Given the description of an element on the screen output the (x, y) to click on. 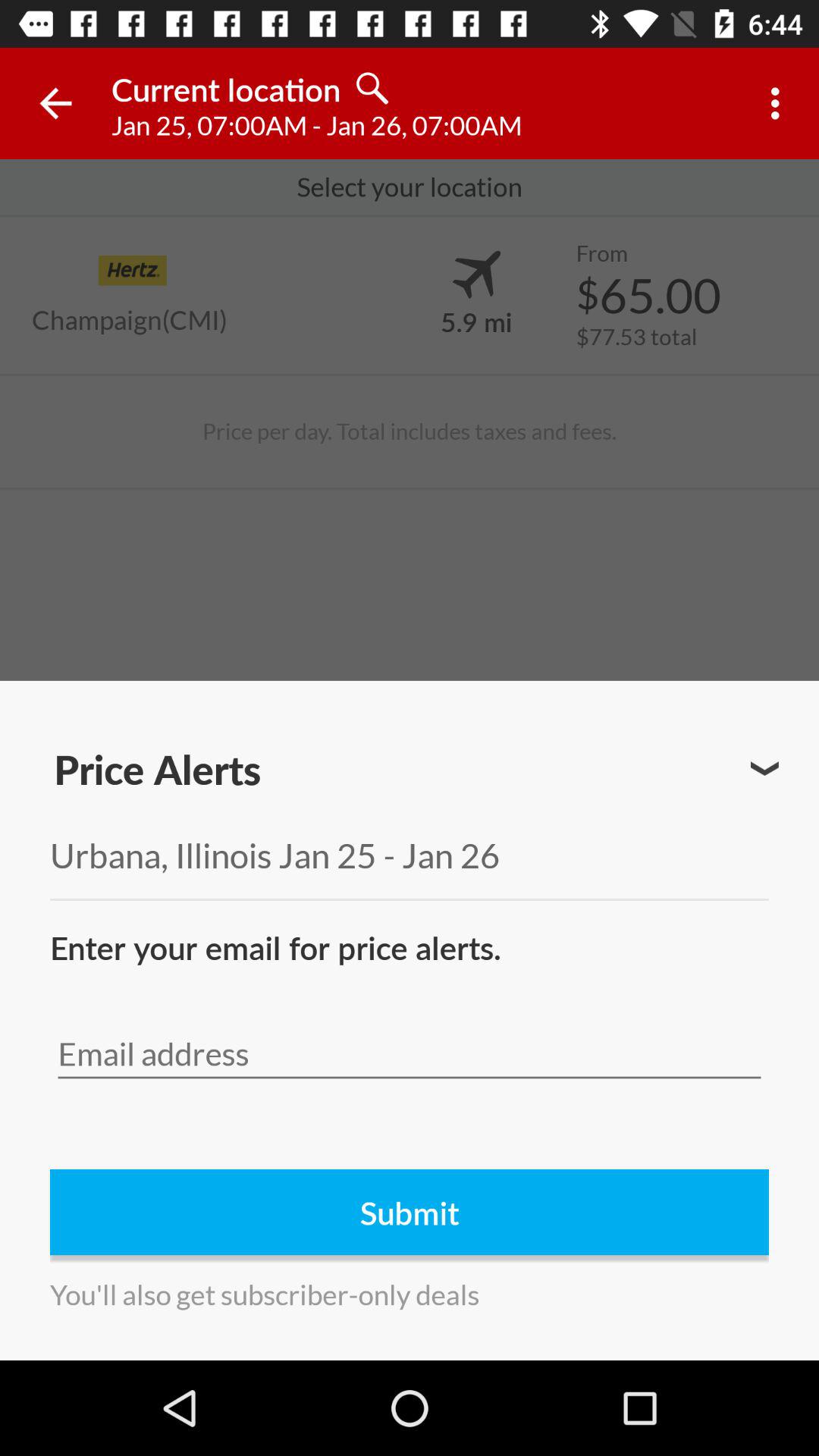
enter email address (409, 1054)
